Given the description of an element on the screen output the (x, y) to click on. 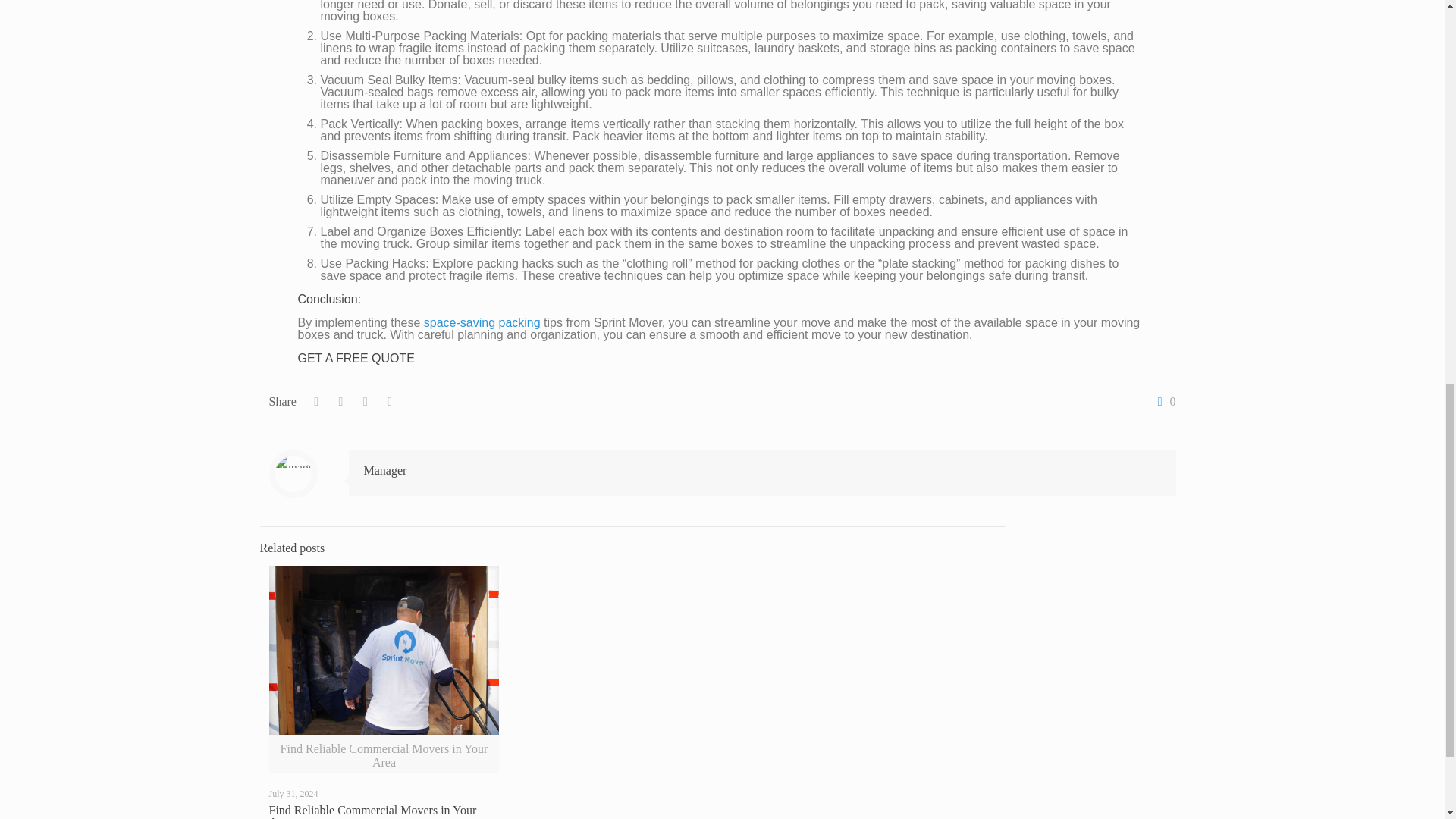
0 (1162, 401)
Manager (385, 470)
Find Reliable Commercial Movers in Your Area (371, 811)
GET A FREE QUOTE (355, 358)
space-saving packing (481, 322)
